Given the description of an element on the screen output the (x, y) to click on. 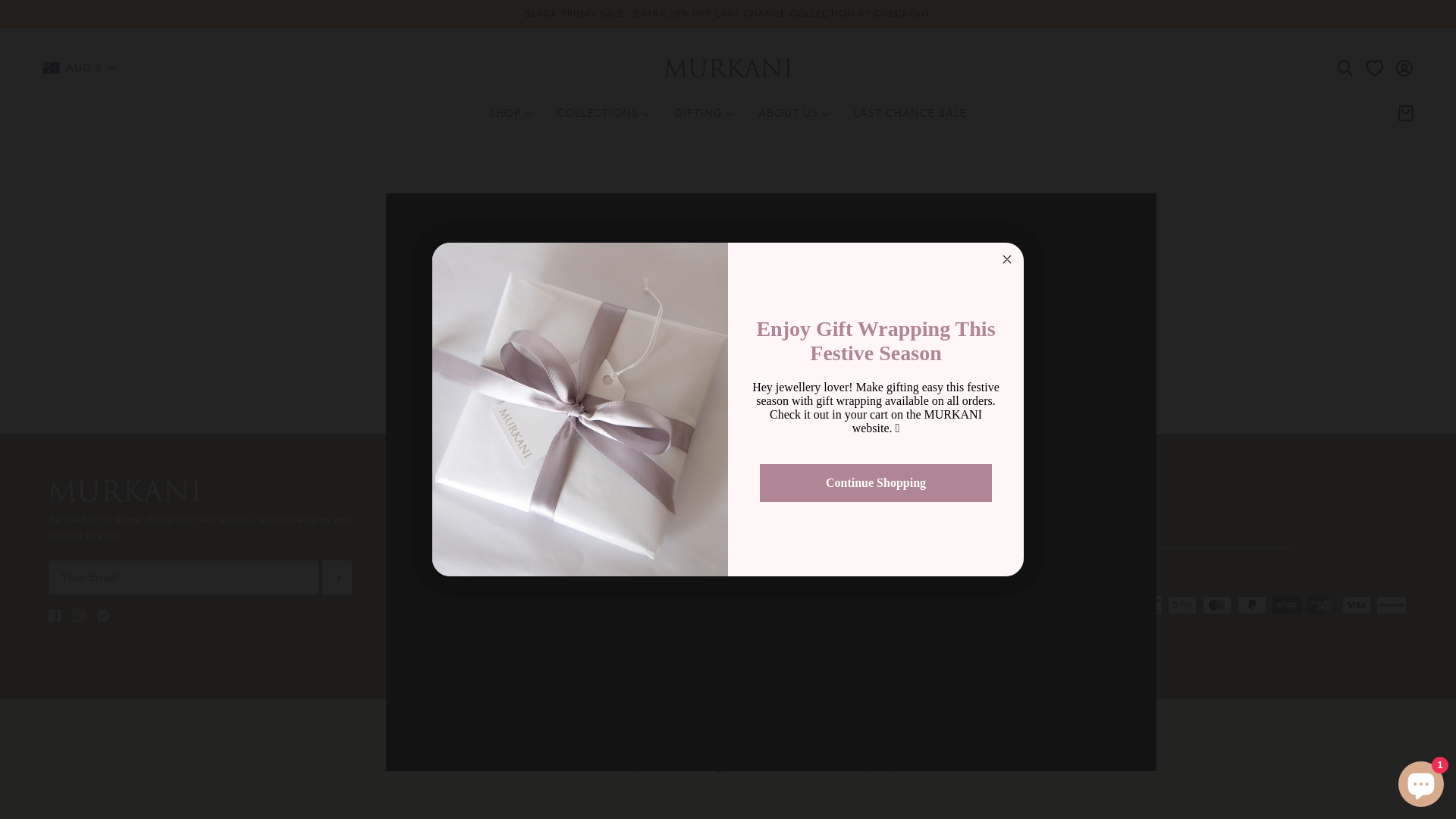
Collaborations Element type: text (776, 552)
Careers Element type: text (758, 531)
NO, THANKS Element type: text (875, 484)
Close dialog 1 Element type: text (1006, 259)
Home page Element type: text (689, 319)
Shop Now Element type: text (875, 508)
Stockists Element type: text (478, 531)
ABOUT US Element type: text (793, 118)
Jewellery Care Element type: text (874, 531)
Shipping Info Element type: text (773, 595)
LAST CHANCE SALE Element type: text (910, 118)
Continue Shopping Element type: text (875, 483)
FAQ's Element type: text (755, 573)
Sustainability Element type: text (605, 552)
COLLECTIONS Element type: text (603, 118)
GIFTING Element type: text (704, 118)
Murkani Element type: hover (727, 66)
products Element type: text (846, 319)
Community Element type: text (486, 573)
Shopify online store chat Element type: hover (1420, 780)
Returns & Exchange Element type: text (886, 552)
SHOP Element type: text (510, 118)
Our Story Element type: text (481, 510)
Warranty Element type: text (859, 573)
Contact Us Element type: text (1089, 510)
Gift Vouchers Element type: text (871, 595)
Sizing & Jewellery Info Element type: text (894, 510)
Privacy Policy Element type: text (606, 510)
Ok Element type: text (336, 577)
Journal Element type: text (476, 552)
Terms & Conditions Element type: text (621, 531)
Contact Us Element type: text (766, 510)
Submit Element type: text (33, 17)
Shopping Info Element type: text (775, 616)
SIGN ME UP! Element type: text (875, 438)
